Given the description of an element on the screen output the (x, y) to click on. 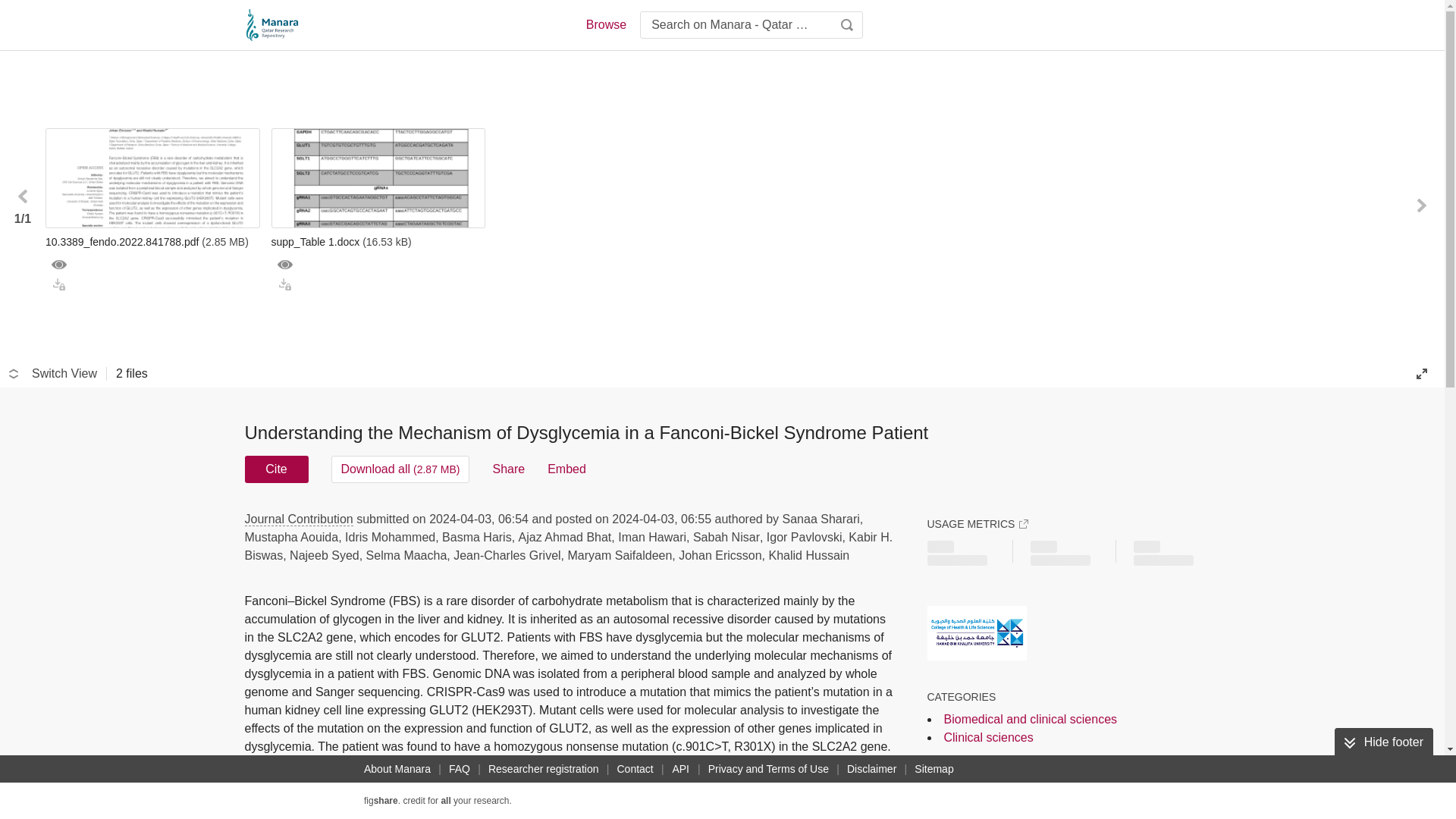
Share (508, 469)
USAGE METRICS (976, 523)
Cite (275, 469)
Clinical sciences (987, 737)
Embed (566, 469)
Browse (605, 24)
Switch View (52, 373)
Biomedical and clinical sciences (1029, 718)
